Given the description of an element on the screen output the (x, y) to click on. 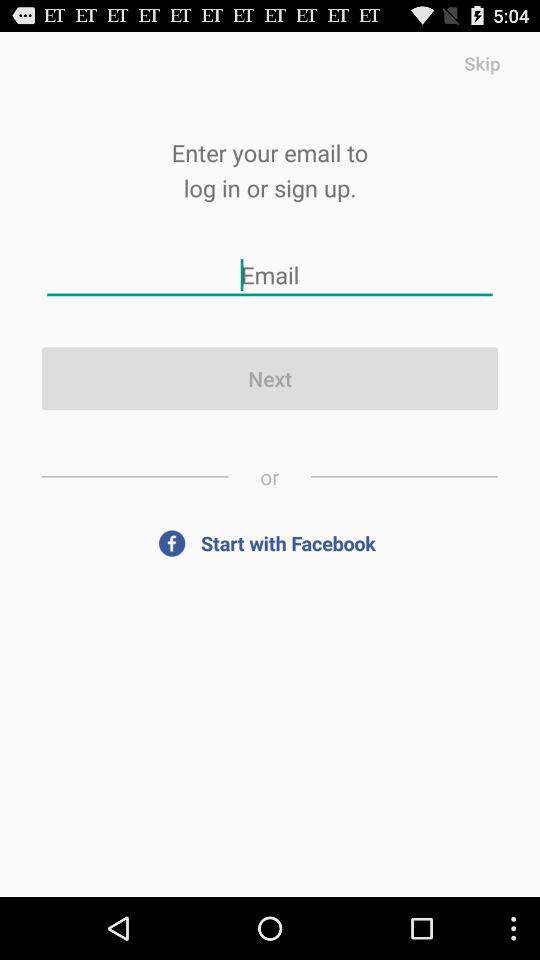
select app below the or item (269, 542)
